Given the description of an element on the screen output the (x, y) to click on. 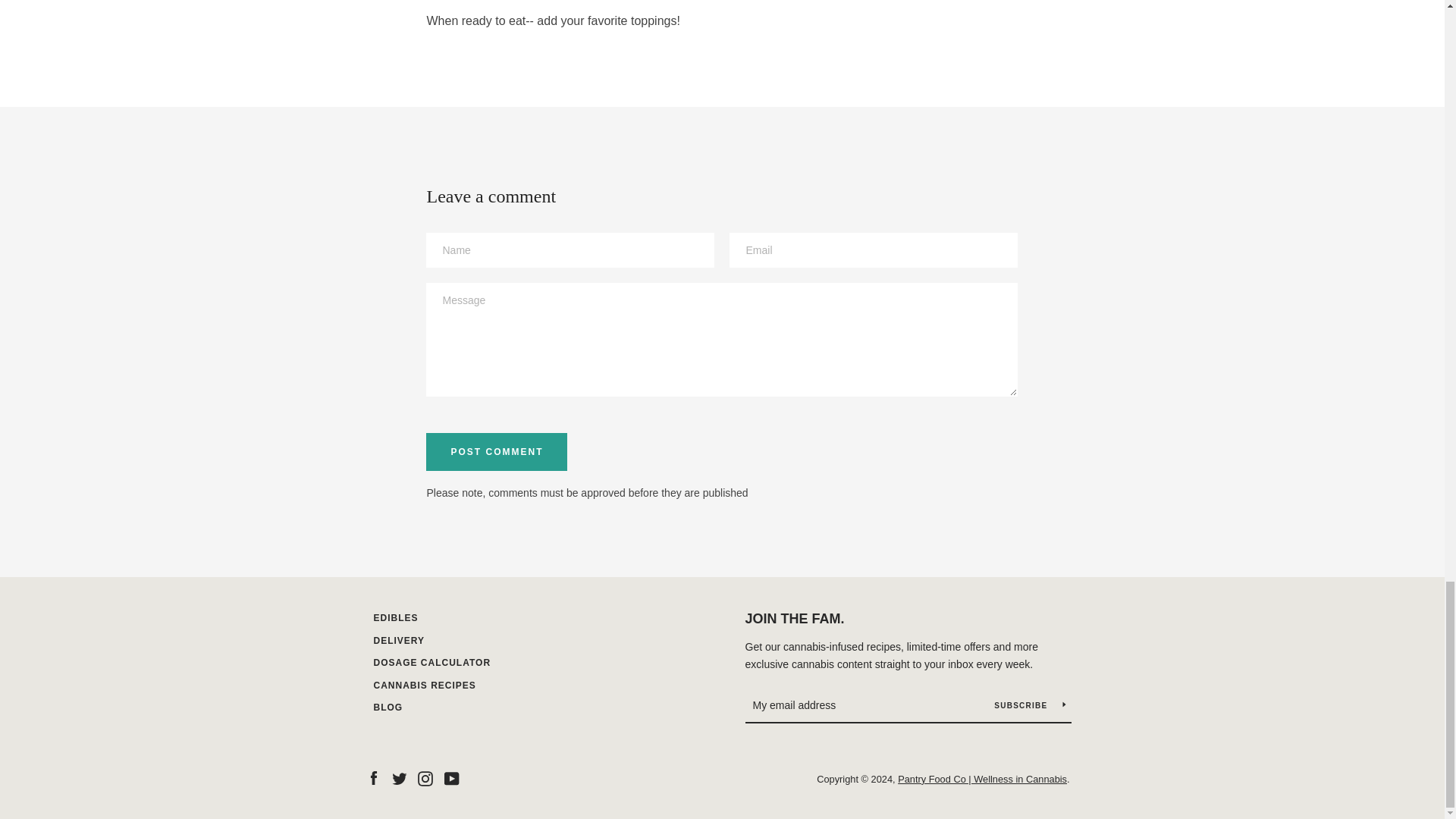
DELIVERY (398, 640)
DOSAGE CALCULATOR (431, 662)
Post comment (496, 451)
EDIBLES (394, 617)
SUBSCRIBE (1029, 704)
Post comment (496, 451)
Twitter (399, 778)
BLOG (387, 706)
Instagram (424, 778)
Facebook (372, 778)
